Given the description of an element on the screen output the (x, y) to click on. 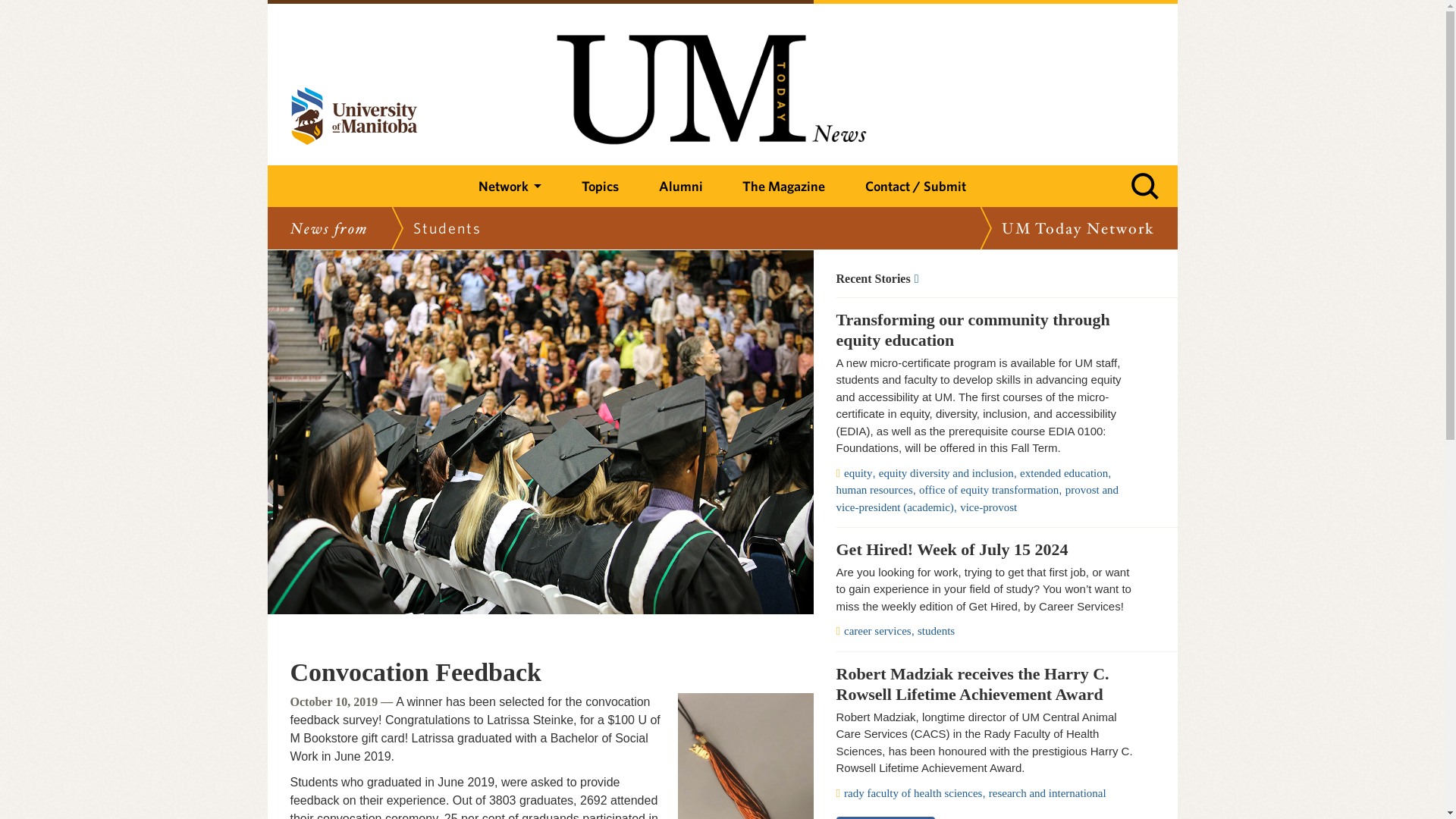
Transforming our community through equity education (986, 330)
News Archives (986, 278)
Get Hired! Week of July 15 2024 (986, 549)
Network (510, 186)
